Given the description of an element on the screen output the (x, y) to click on. 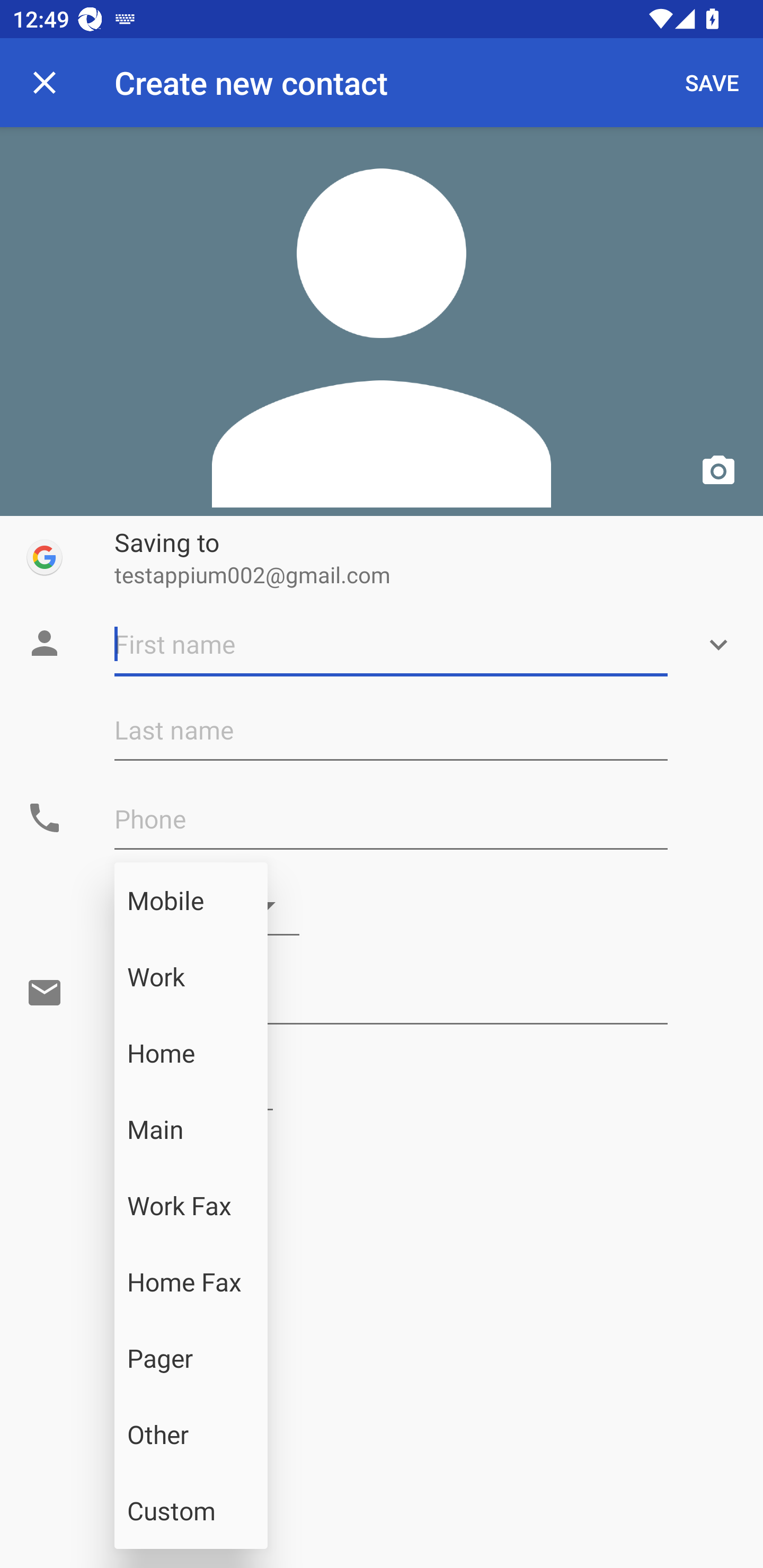
Mobile (190, 900)
Work (190, 976)
Home (190, 1052)
Main (190, 1129)
Work Fax (190, 1205)
Home Fax (190, 1281)
Pager (190, 1358)
Other (190, 1434)
Custom (190, 1510)
